Given the description of an element on the screen output the (x, y) to click on. 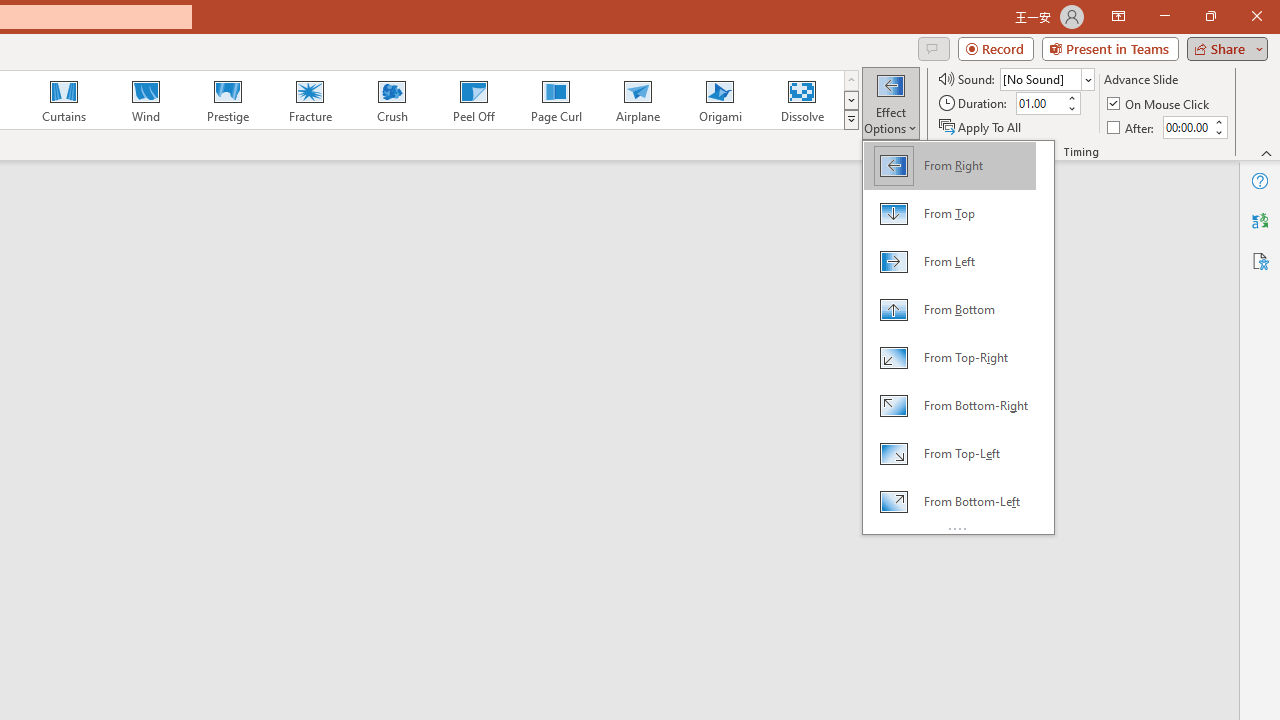
Apply To All (981, 126)
Effect &Options (957, 336)
Transition Effects (850, 120)
Wind (145, 100)
On Mouse Click (1159, 103)
